Given the description of an element on the screen output the (x, y) to click on. 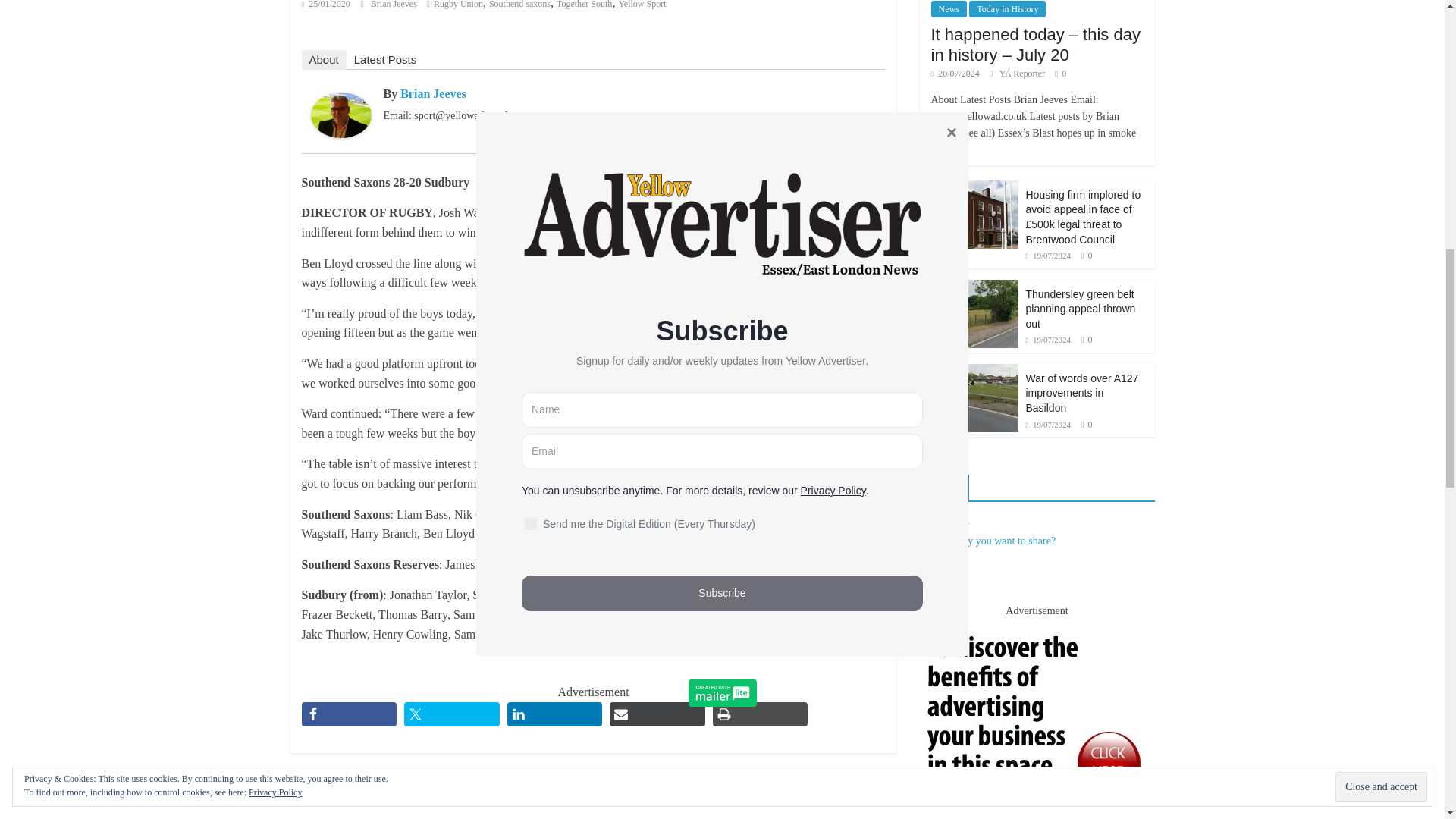
Share on Facebook (349, 713)
Brian Jeeves (395, 4)
Share via Email (657, 713)
Print this Page (760, 713)
Share on Twitter (451, 713)
Share on LinkedIn (554, 713)
8:51 pm (325, 4)
Brian Jeeves (341, 101)
